Given the description of an element on the screen output the (x, y) to click on. 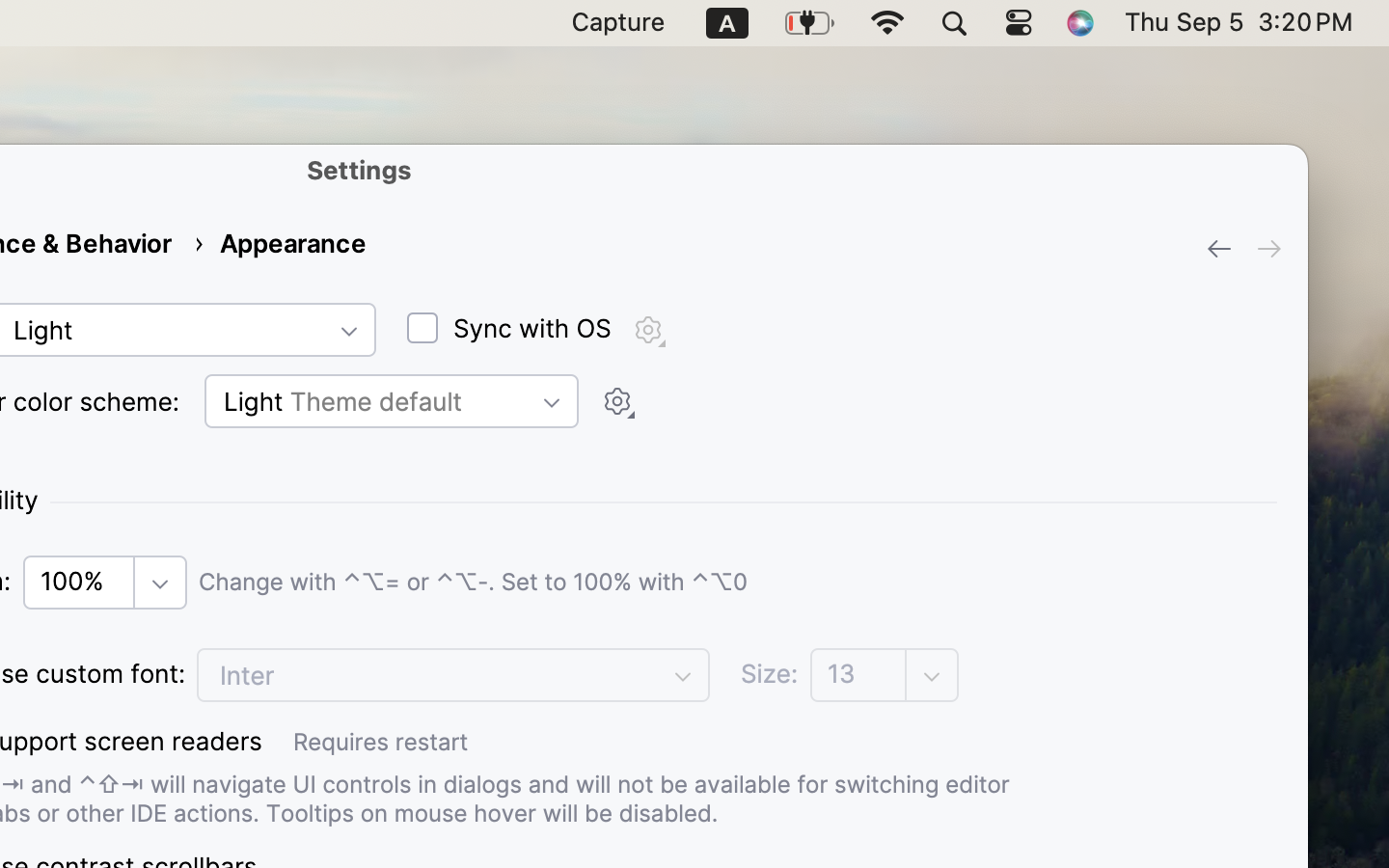
13 Element type: AXTextField (860, 673)
Light Theme default Element type: AXPopUpButton (391, 401)
Size: Element type: AXStaticText (769, 673)
Settings Element type: AXStaticText (359, 169)
